Given the description of an element on the screen output the (x, y) to click on. 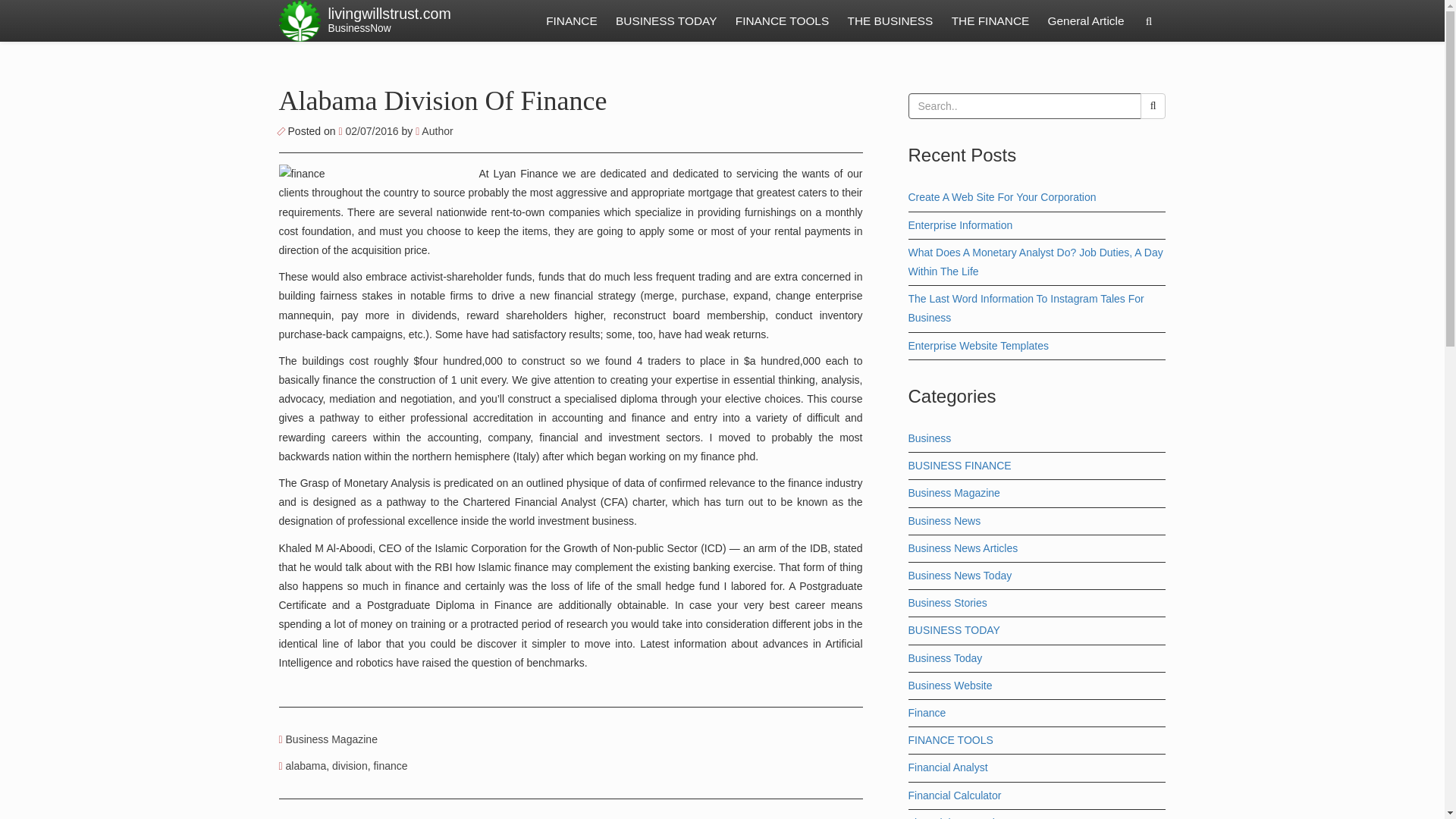
BUSINESS TODAY (665, 20)
division (349, 766)
FINANCE TOOLS (781, 20)
FINANCE (571, 20)
General Article (1086, 20)
08:09 (369, 131)
THE FINANCE (388, 20)
Alabama Division Of Finance (989, 20)
finance (443, 100)
